Given the description of an element on the screen output the (x, y) to click on. 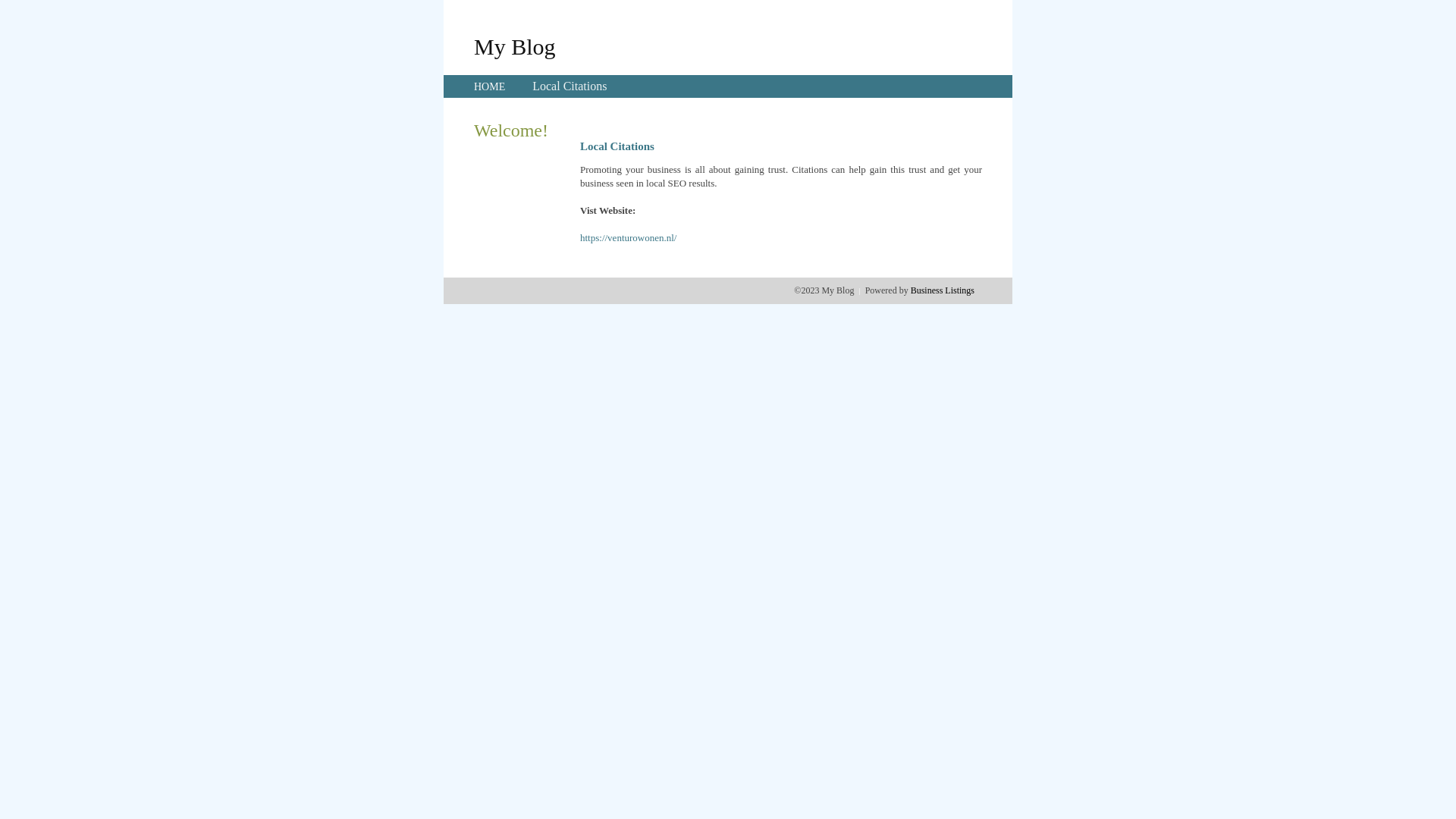
Local Citations Element type: text (569, 85)
HOME Element type: text (489, 86)
My Blog Element type: text (514, 46)
Business Listings Element type: text (942, 290)
https://venturowonen.nl/ Element type: text (628, 237)
